Given the description of an element on the screen output the (x, y) to click on. 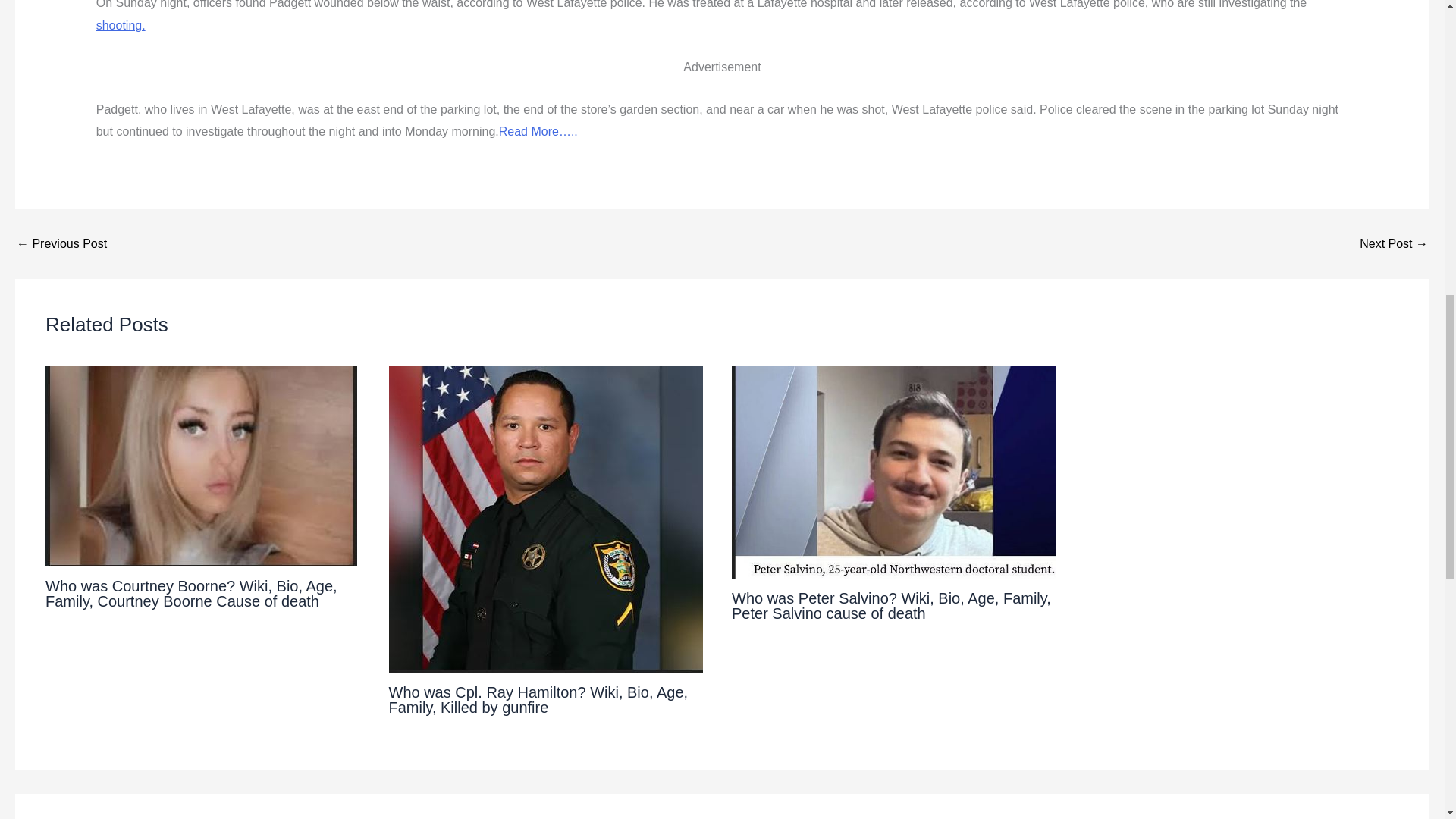
shooting. (120, 24)
